Given the description of an element on the screen output the (x, y) to click on. 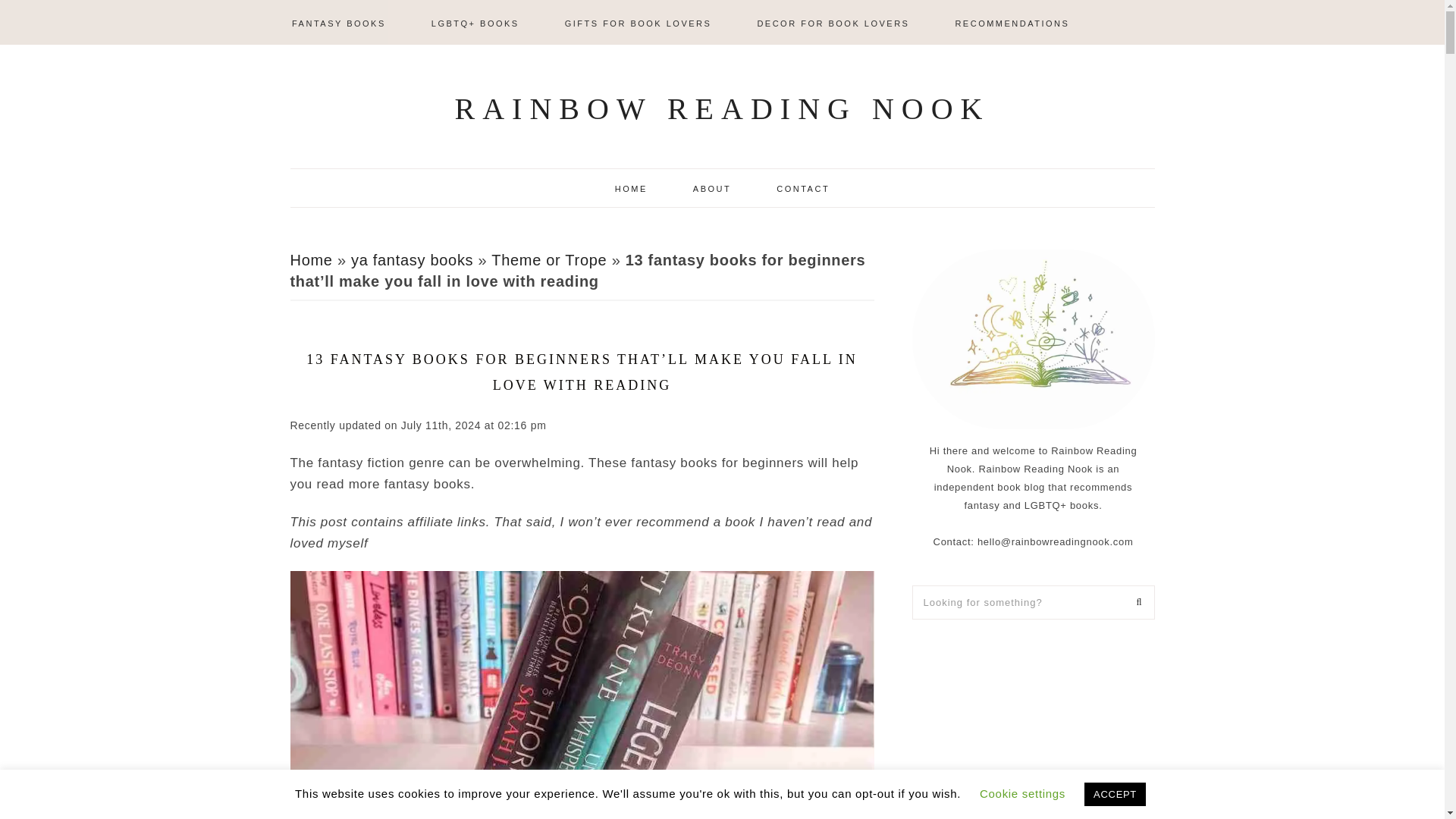
CONTACT (802, 187)
FANTASY BOOKS (339, 22)
DECOR FOR BOOK LOVERS (832, 22)
RAINBOW READING NOOK (722, 108)
Theme or Trope (549, 259)
RECOMMENDATIONS (1011, 22)
ABOUT (711, 187)
GIFTS FOR BOOK LOVERS (638, 22)
HOME (630, 187)
